Given the description of an element on the screen output the (x, y) to click on. 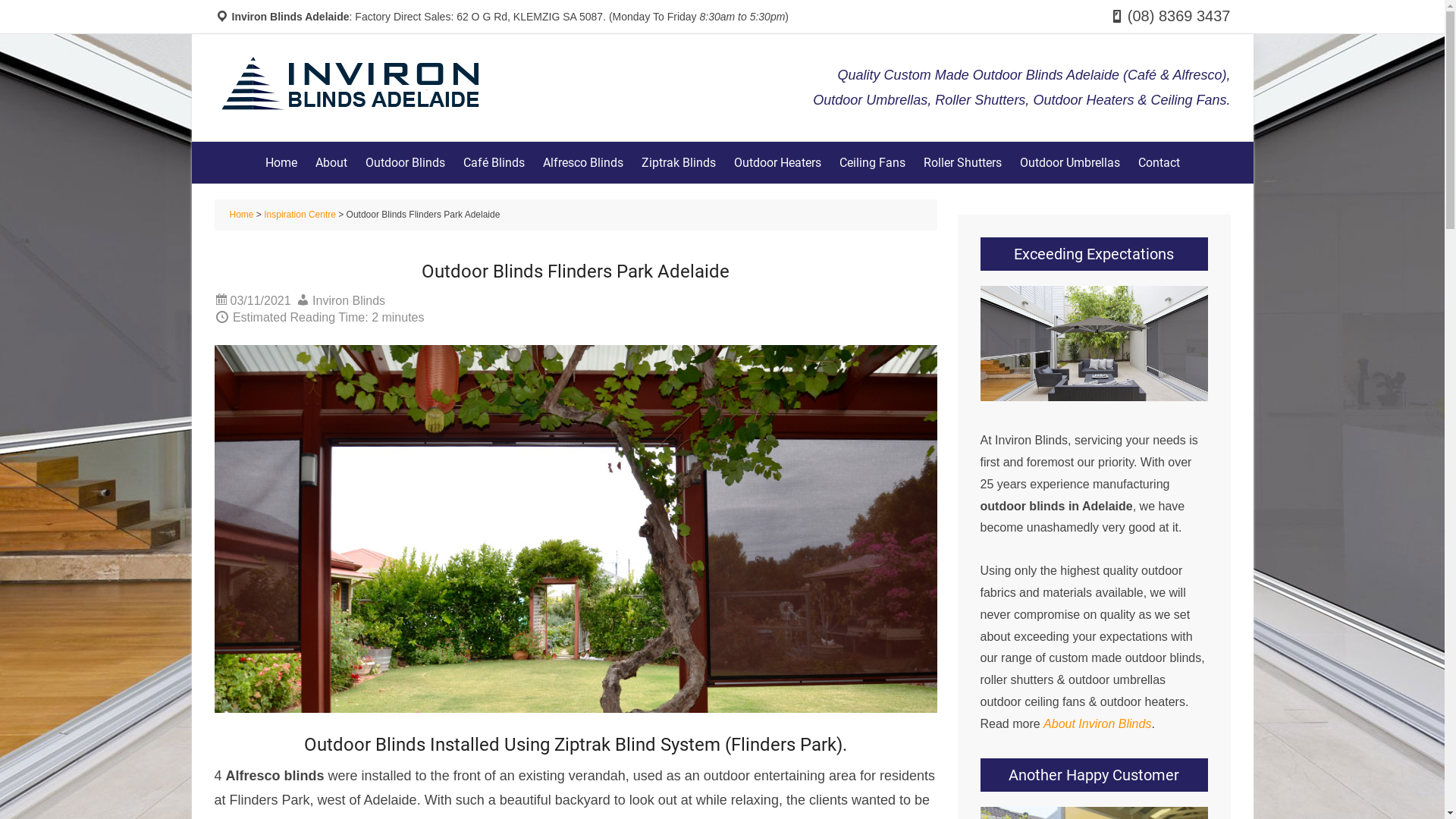
Outdoor Blinds Adelaide SA | Cafe Blinds | Alfresco Blinds Element type: hover (349, 82)
Inspiration Centre Element type: text (299, 214)
Alfresco Blinds Element type: text (582, 162)
Outdoor Heaters Element type: text (777, 162)
About Element type: text (331, 162)
Inviron Blinds Element type: text (348, 300)
Ceiling Fans Element type: text (871, 162)
Outdoor Blinds Adelaide SA | Cafe Blinds | Alfresco Blinds Element type: hover (349, 104)
Home Element type: text (281, 162)
About Inviron Blinds Element type: text (1097, 723)
Home Element type: text (241, 214)
Ziptrak Blinds Element type: text (678, 162)
Roller Shutters Element type: text (962, 162)
Outdoor Blinds Element type: text (405, 162)
Outdoor Umbrellas Element type: text (1069, 162)
Contact Element type: text (1158, 162)
Outdoor Blinds Adelaide | Alfresco Blinds Flinders Park Element type: hover (574, 528)
